Given the description of an element on the screen output the (x, y) to click on. 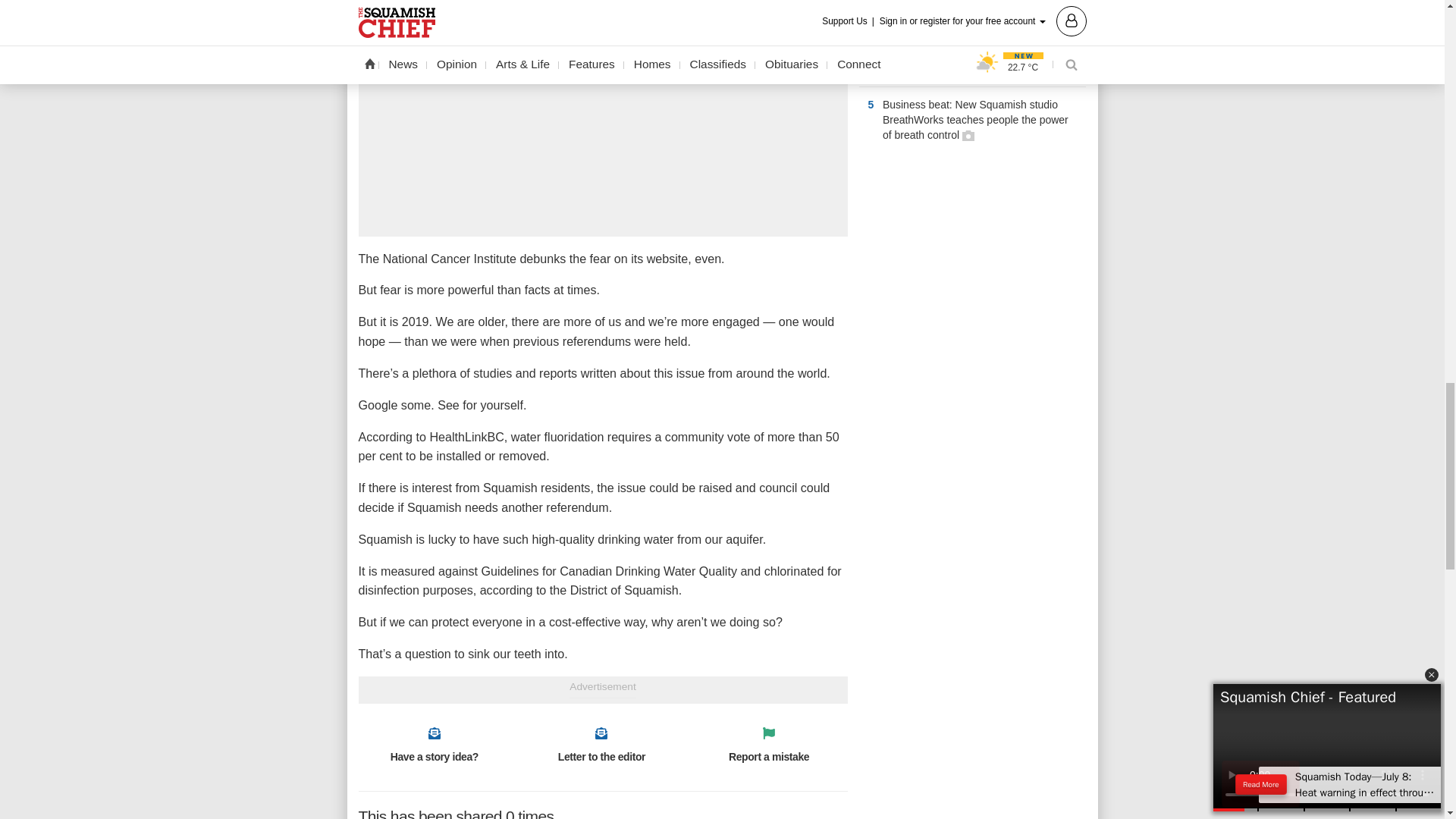
Has a gallery (968, 135)
3rd party ad content (972, 263)
Has a gallery (1057, 68)
